Given the description of an element on the screen output the (x, y) to click on. 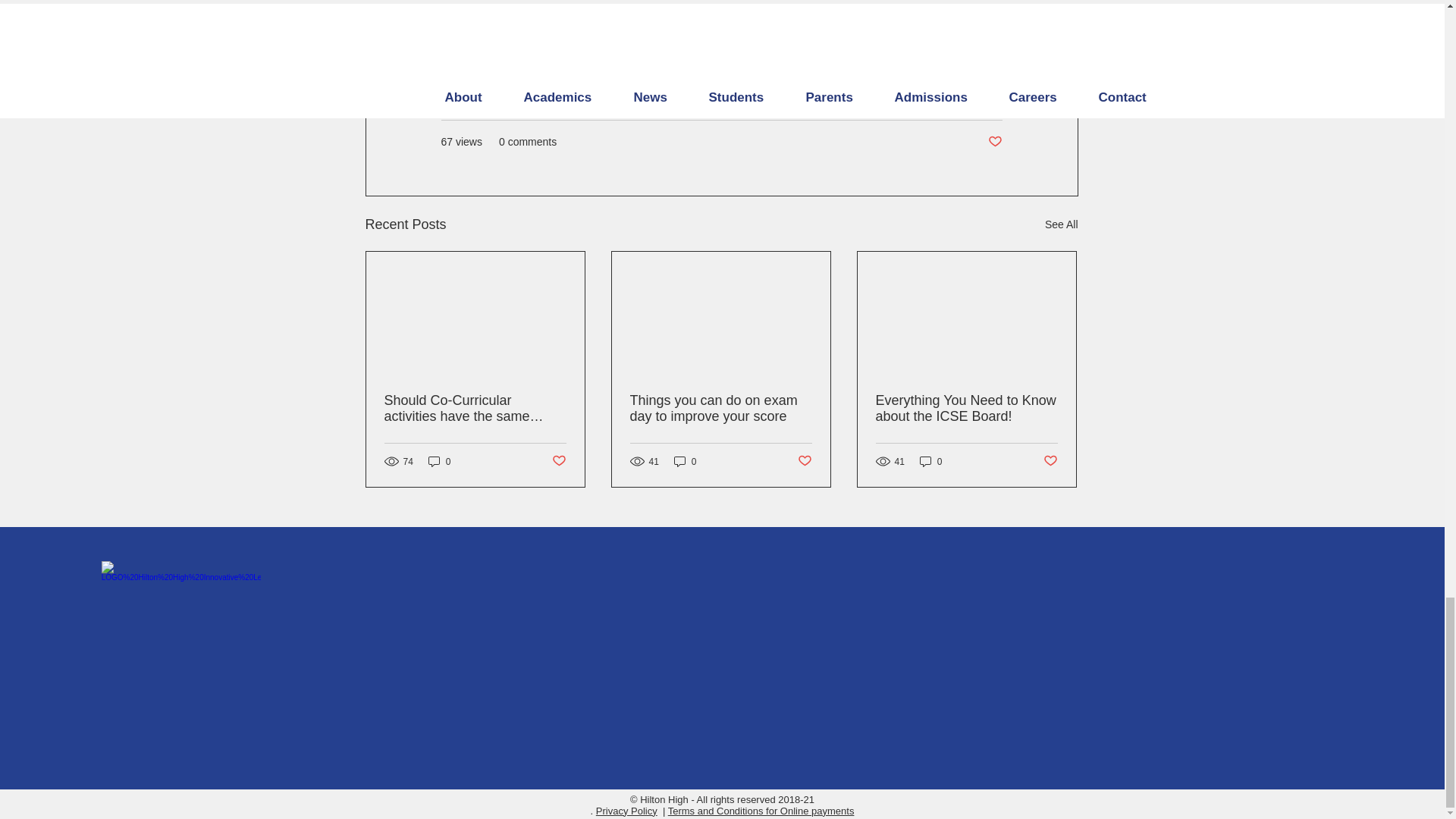
Post not marked as liked (994, 141)
See All (1061, 224)
Post not marked as liked (1050, 461)
Everything You Need to Know about the ICSE Board! (966, 409)
Post not marked as liked (558, 461)
0 (930, 461)
0 (439, 461)
Things you can do on exam day to improve your score (719, 409)
0 (685, 461)
